Given the description of an element on the screen output the (x, y) to click on. 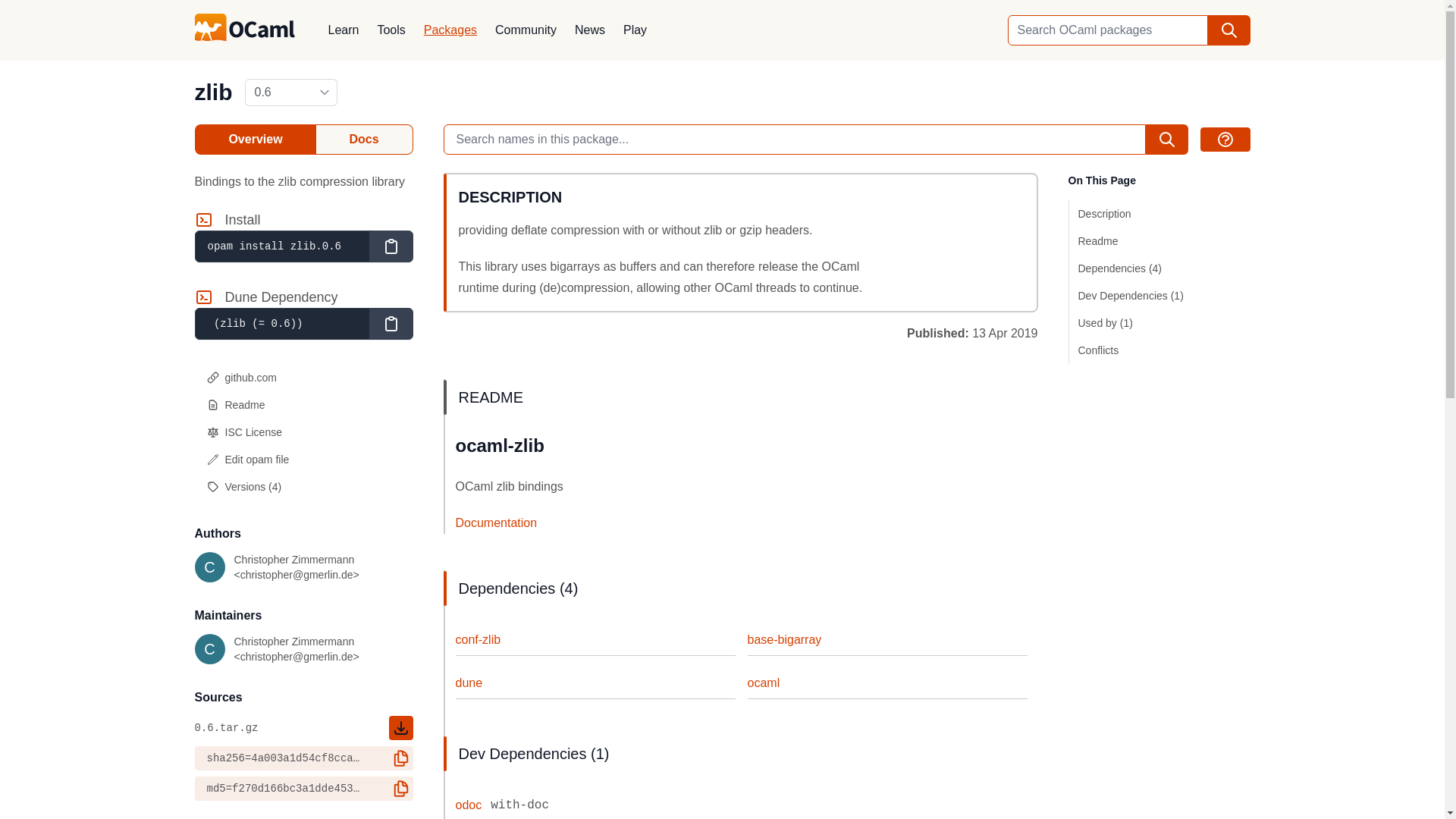
opam install zlib.0.6 (281, 246)
News (590, 30)
Copy to clipboard (390, 246)
show search instructions (1224, 139)
github.com (302, 377)
Edit opam file (302, 459)
Play (635, 30)
Readme (302, 404)
Community (526, 30)
0.6.tar.gz (302, 727)
Packages (450, 30)
Tools (390, 30)
zlib (212, 91)
ISC License (302, 431)
Docs (364, 139)
